Given the description of an element on the screen output the (x, y) to click on. 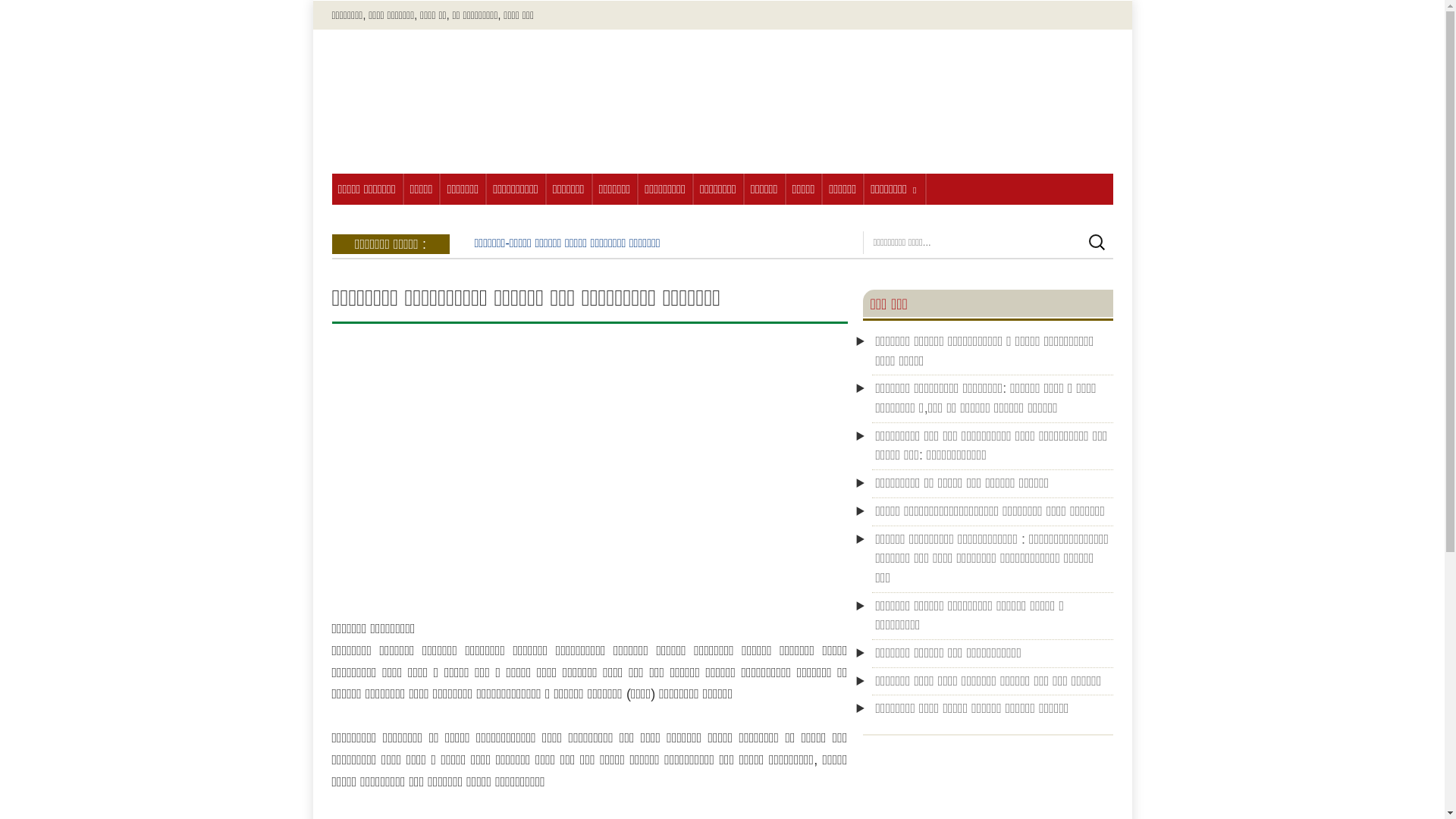
Search Element type: text (132, 11)
Search for: Element type: hover (987, 242)
